Given the description of an element on the screen output the (x, y) to click on. 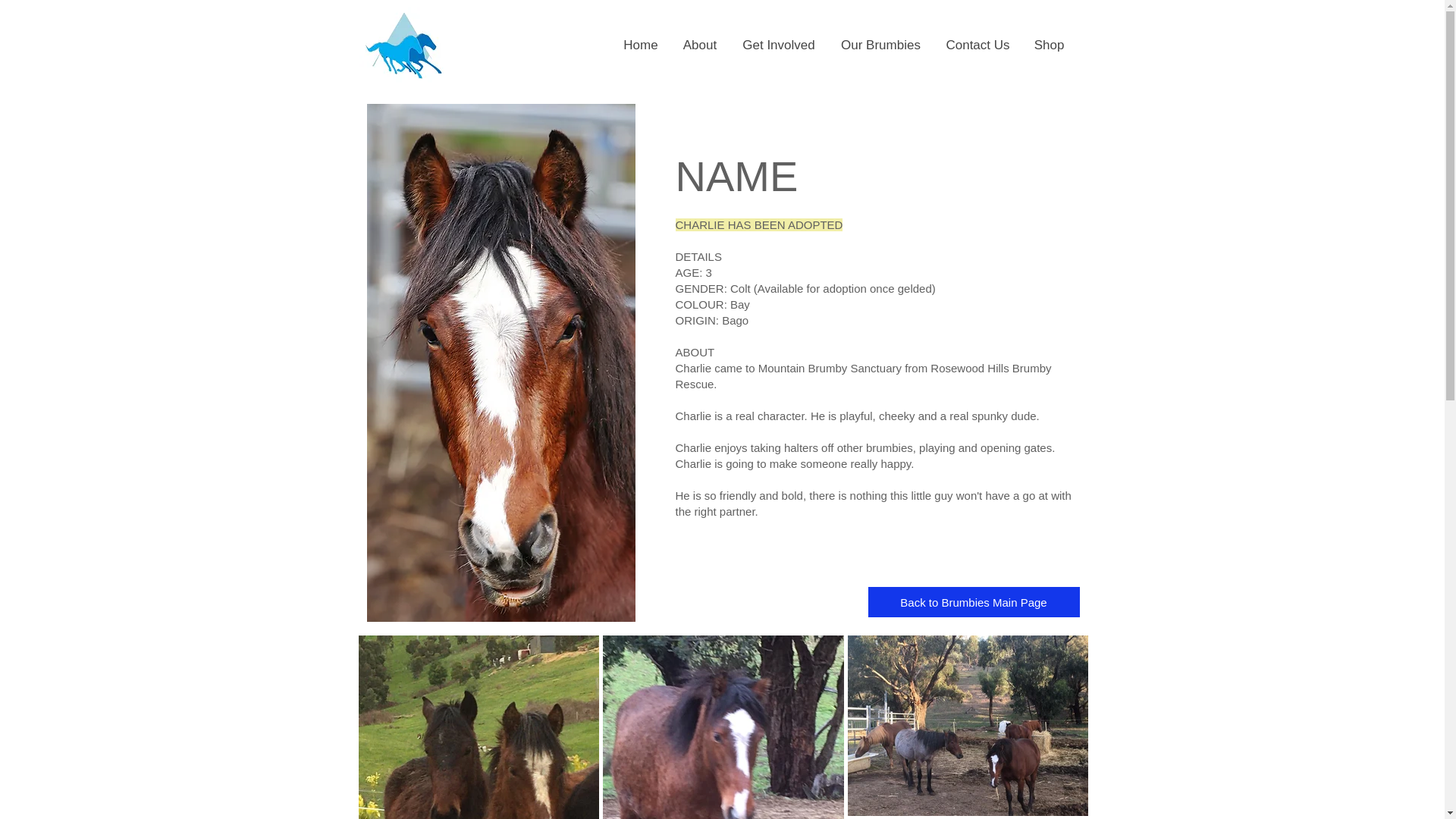
Home (640, 45)
About (699, 45)
Get Involved (778, 45)
Brumby Logo 2.jpeg (403, 44)
Contact Us (977, 45)
Shop (1048, 45)
Back to Brumbies Main Page (972, 602)
